Given the description of an element on the screen output the (x, y) to click on. 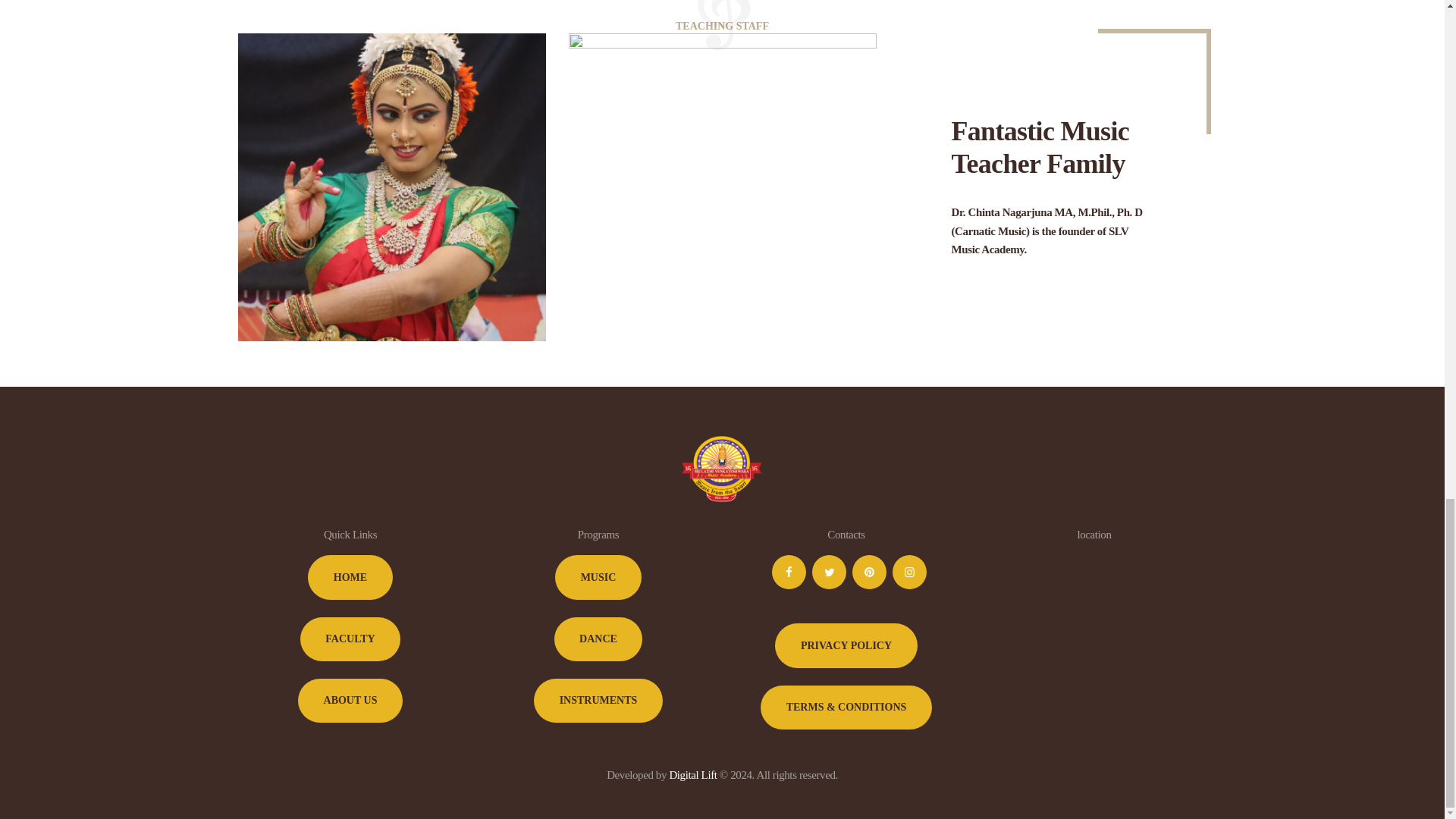
MUSIC (598, 576)
INSTRUMENTS (598, 700)
FACULTY (350, 638)
ABOUT US (350, 700)
DANCE (598, 638)
HOME (350, 576)
